Given the description of an element on the screen output the (x, y) to click on. 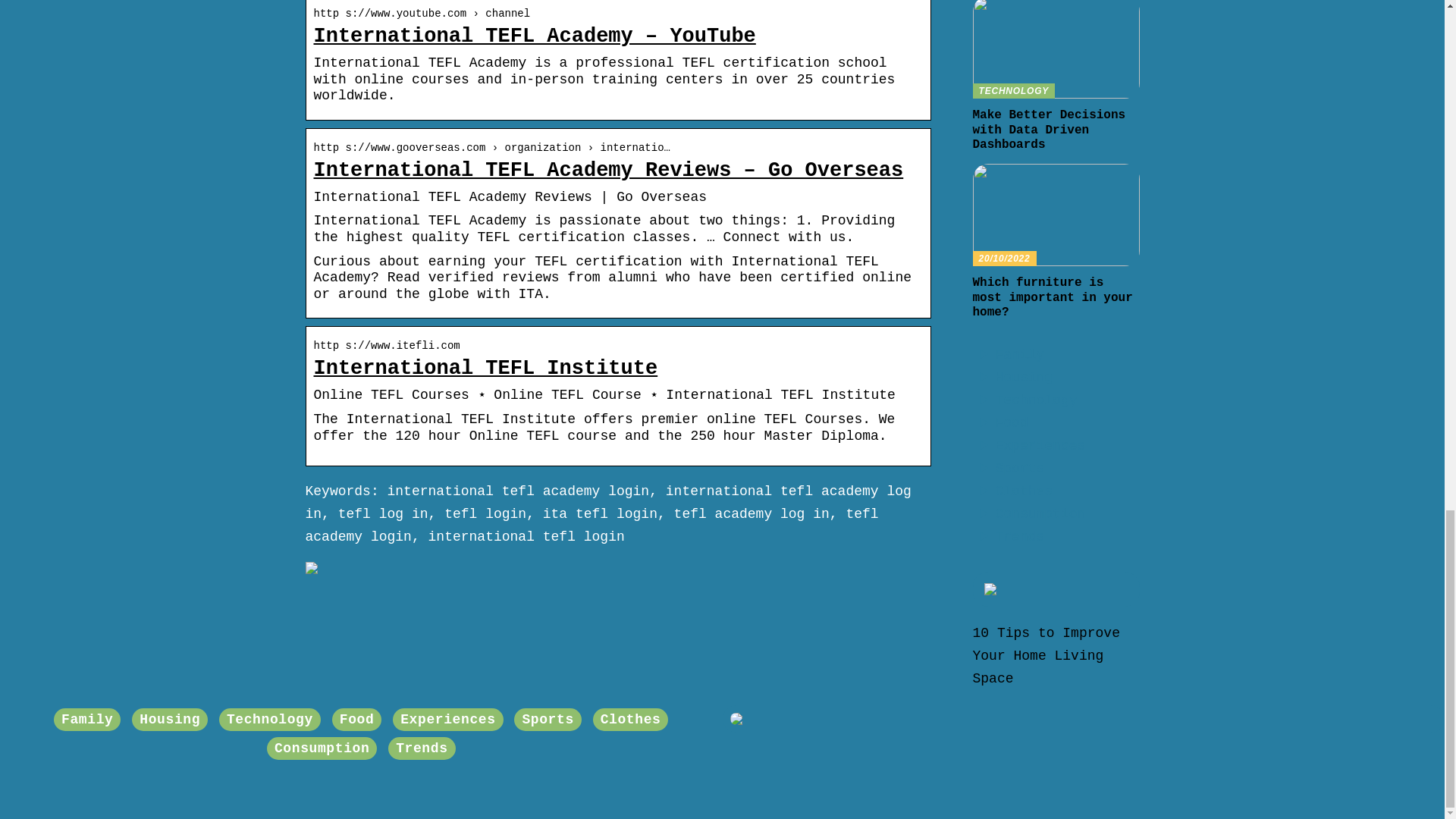
Clothes (630, 719)
Food (1010, 422)
Sports (547, 719)
Technology (1035, 400)
Sports (1018, 468)
Clothes (1023, 491)
Consumption (1039, 513)
Experiences (1039, 445)
Family (87, 719)
Housing (1055, 76)
Technology (1023, 377)
Consumption (270, 719)
10 Tips to Improve Your Home Living Space (322, 748)
Food (1045, 655)
